Given the description of an element on the screen output the (x, y) to click on. 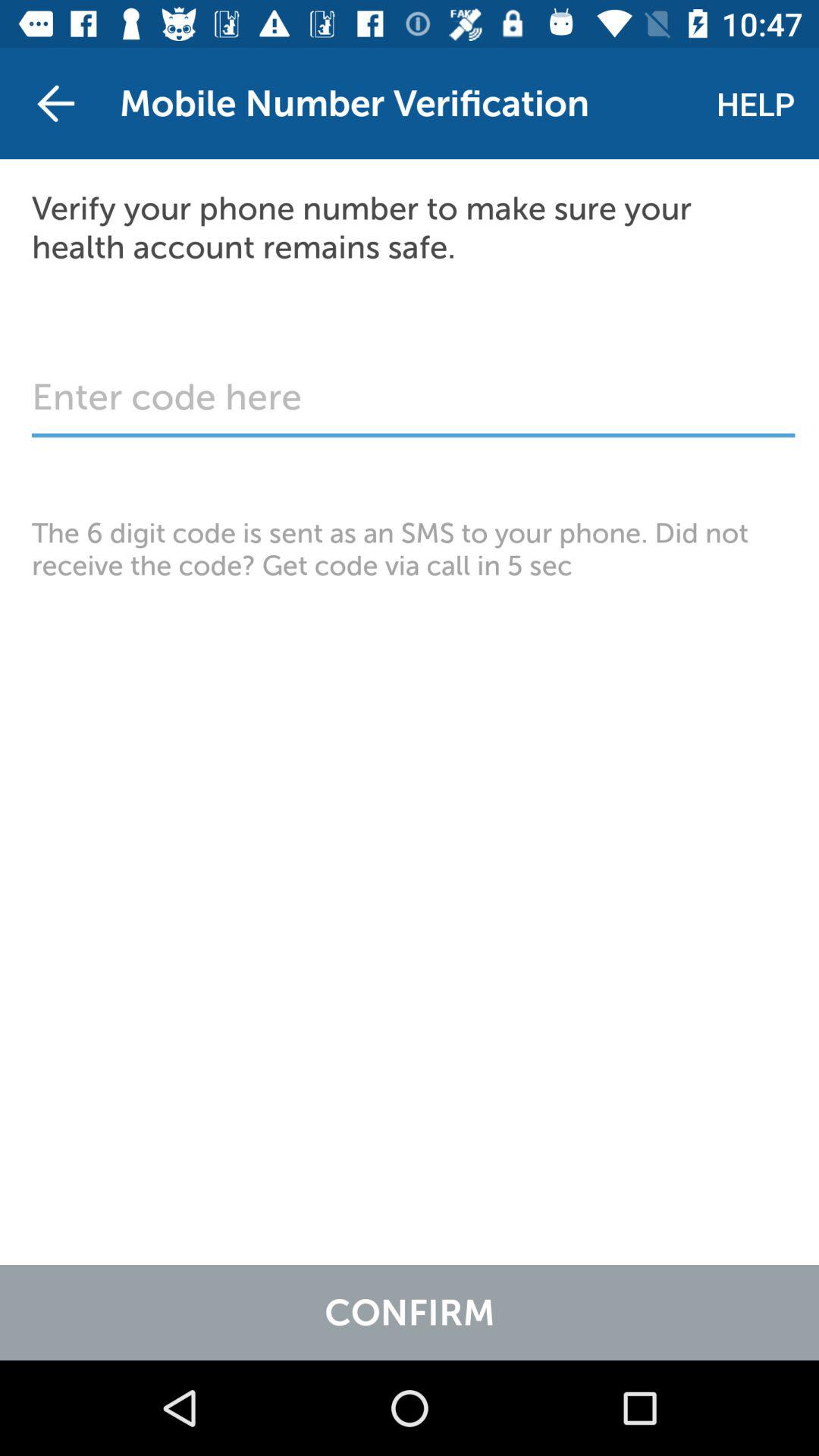
turn on the item next to the mobile number verification icon (55, 103)
